Given the description of an element on the screen output the (x, y) to click on. 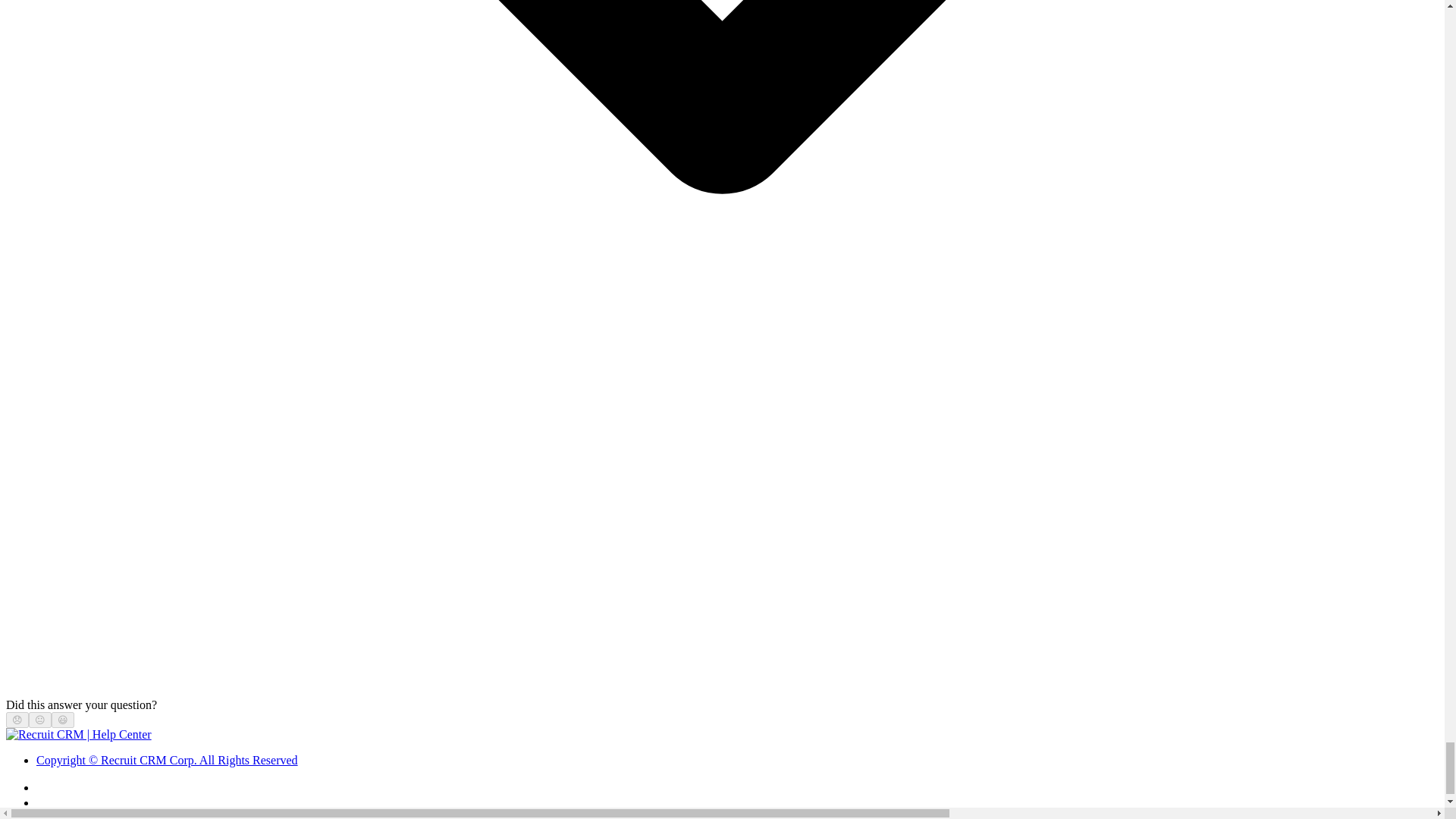
Neutral (39, 719)
Disappointed (17, 719)
Smiley (63, 719)
